Given the description of an element on the screen output the (x, y) to click on. 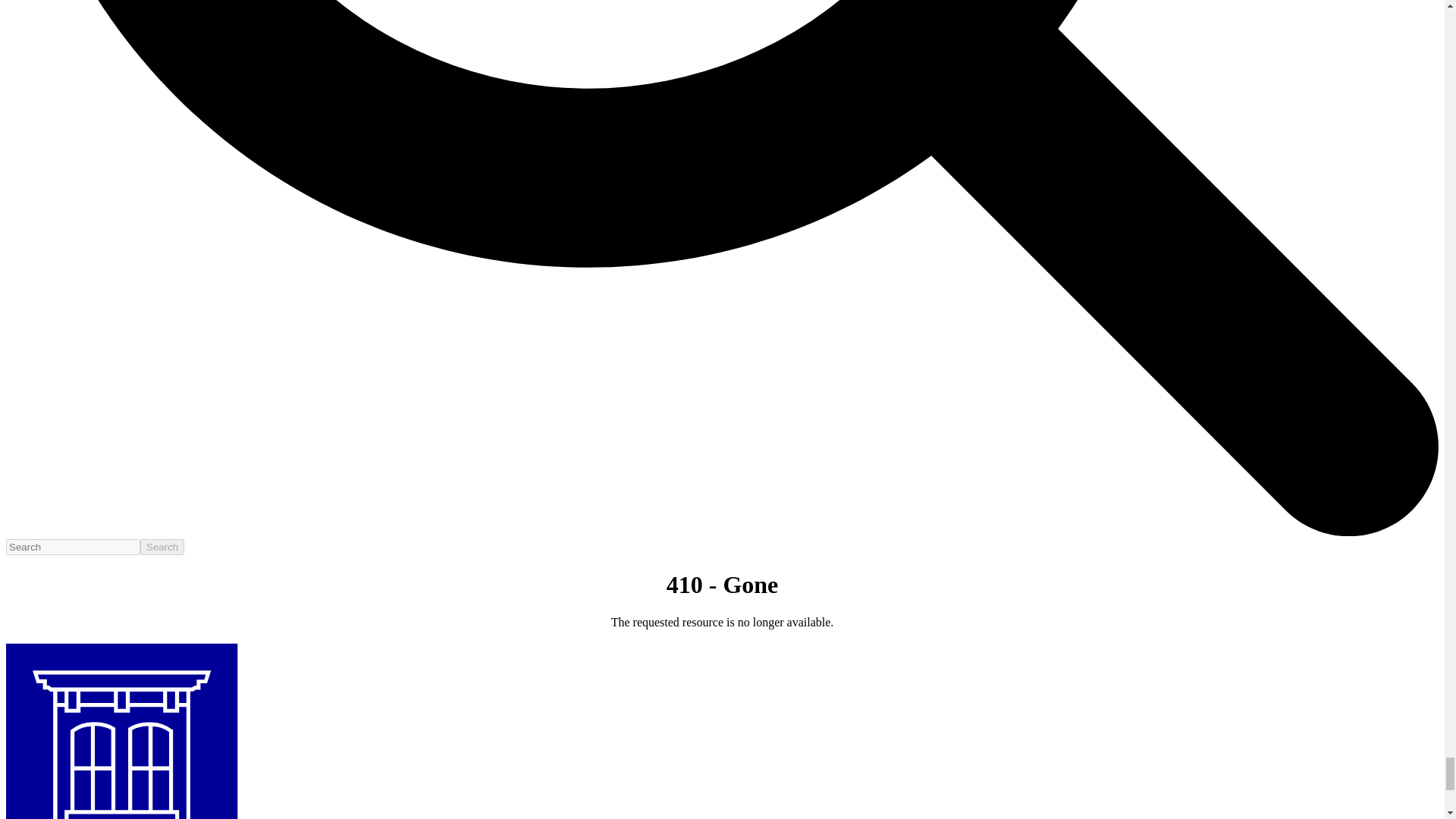
Search (161, 546)
